Given the description of an element on the screen output the (x, y) to click on. 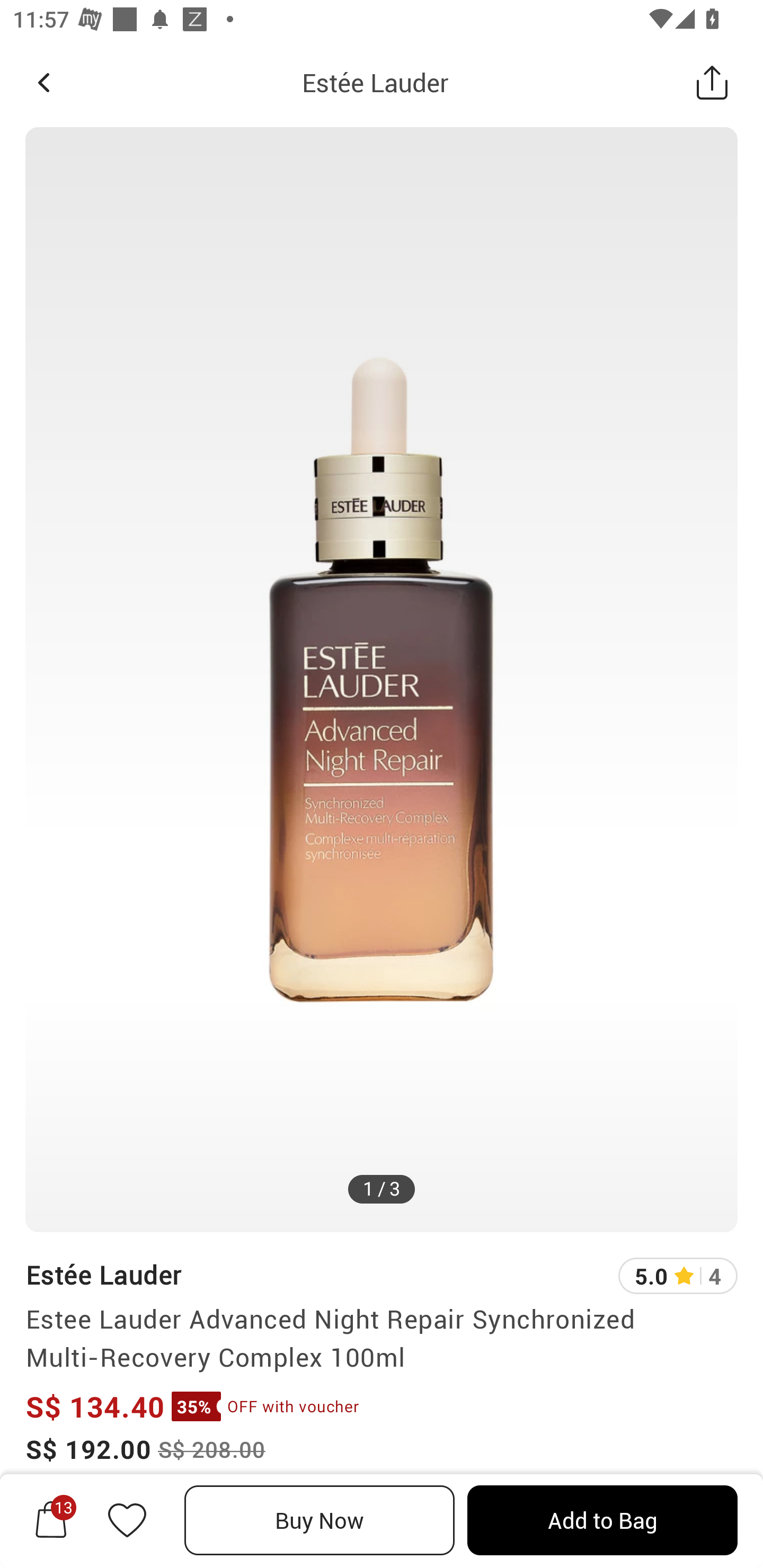
Estée Lauder (375, 82)
Share this Product (711, 82)
Estée Lauder (103, 1274)
5.0 4 (677, 1275)
Buy Now (319, 1519)
Add to Bag (601, 1519)
13 (50, 1520)
